Given the description of an element on the screen output the (x, y) to click on. 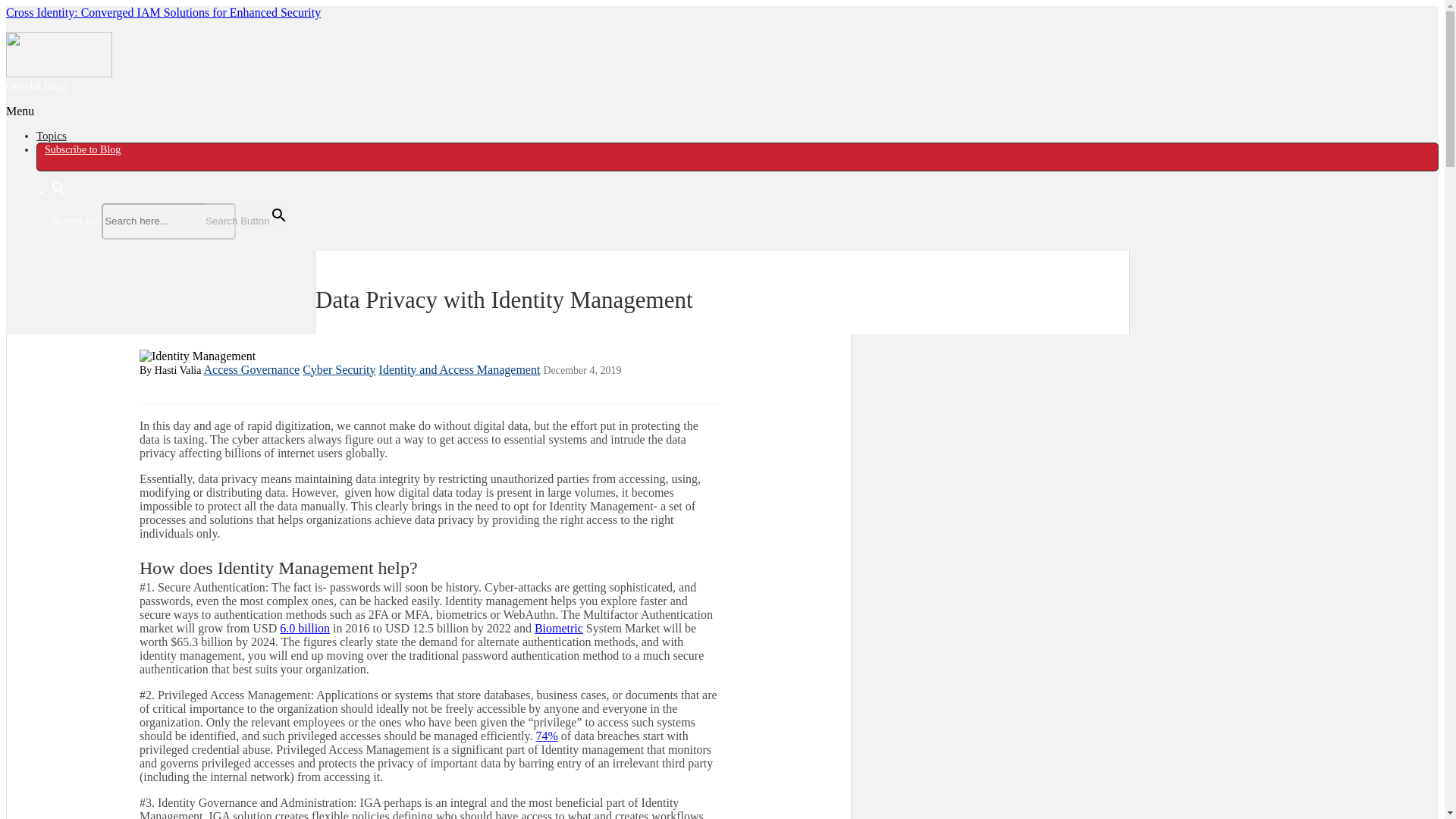
View all posts in Access Governance (251, 368)
View all posts in Identity and Access Management (459, 368)
Cyber Security (338, 368)
6.0 billion (304, 627)
Biometric (558, 627)
Topics (51, 135)
Identity and Access Management (459, 368)
Search Button (245, 216)
View all posts in Cyber Security (338, 368)
Access Governance (251, 368)
Subscribe to Blog (82, 149)
